Given the description of an element on the screen output the (x, y) to click on. 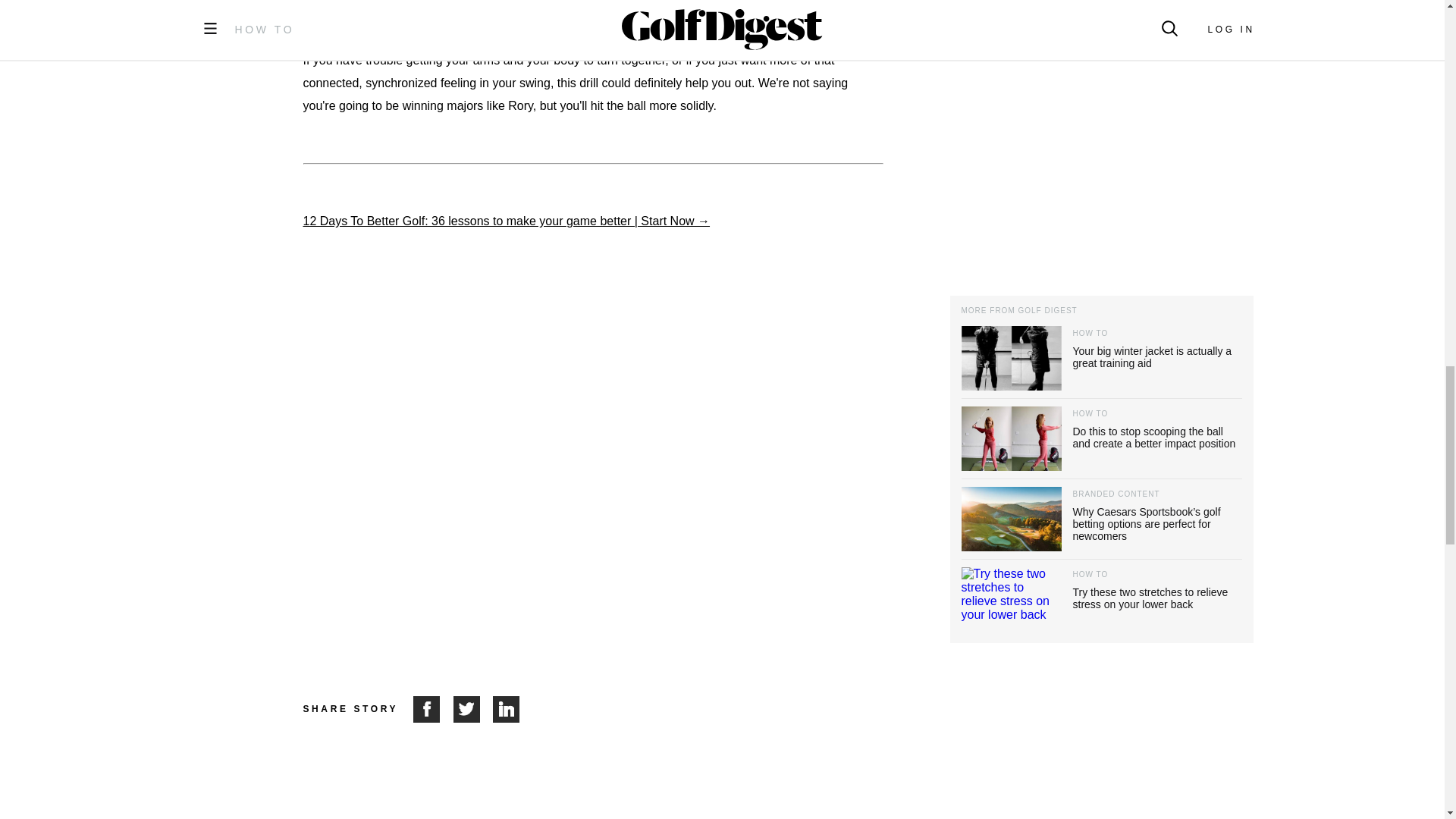
Share on LinkedIn (506, 709)
Share on Twitter (472, 709)
Share on Facebook (432, 709)
